Given the description of an element on the screen output the (x, y) to click on. 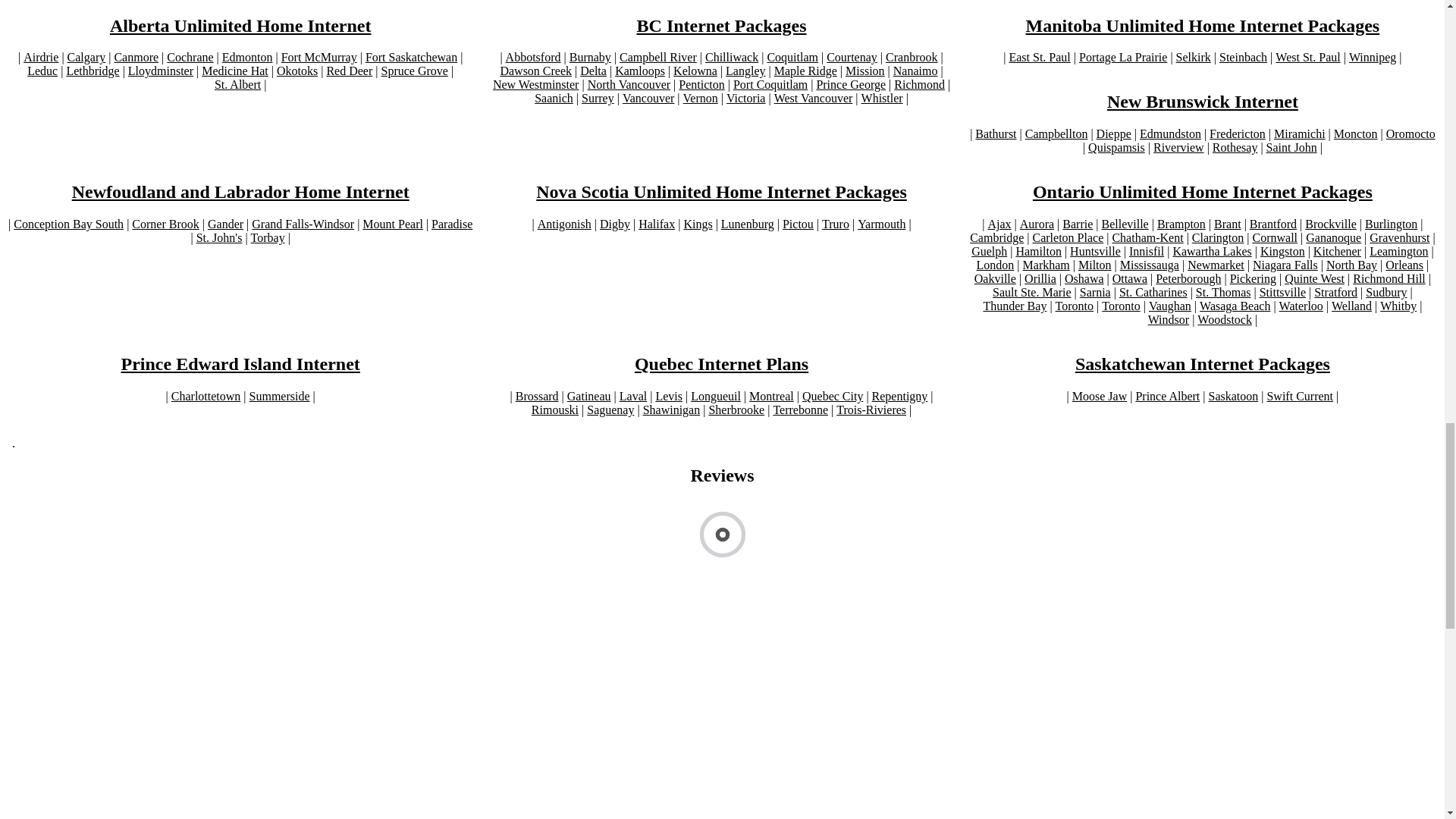
Edmonton (247, 57)
St. Albert (237, 84)
Coquitlam (792, 57)
Okotoks (296, 70)
Cochrane (189, 57)
Fort Saskatchewan (411, 57)
BC Internet Packages (721, 25)
Abbotsford (532, 57)
Chilliwack (731, 57)
Dawson Creek (535, 70)
